Given the description of an element on the screen output the (x, y) to click on. 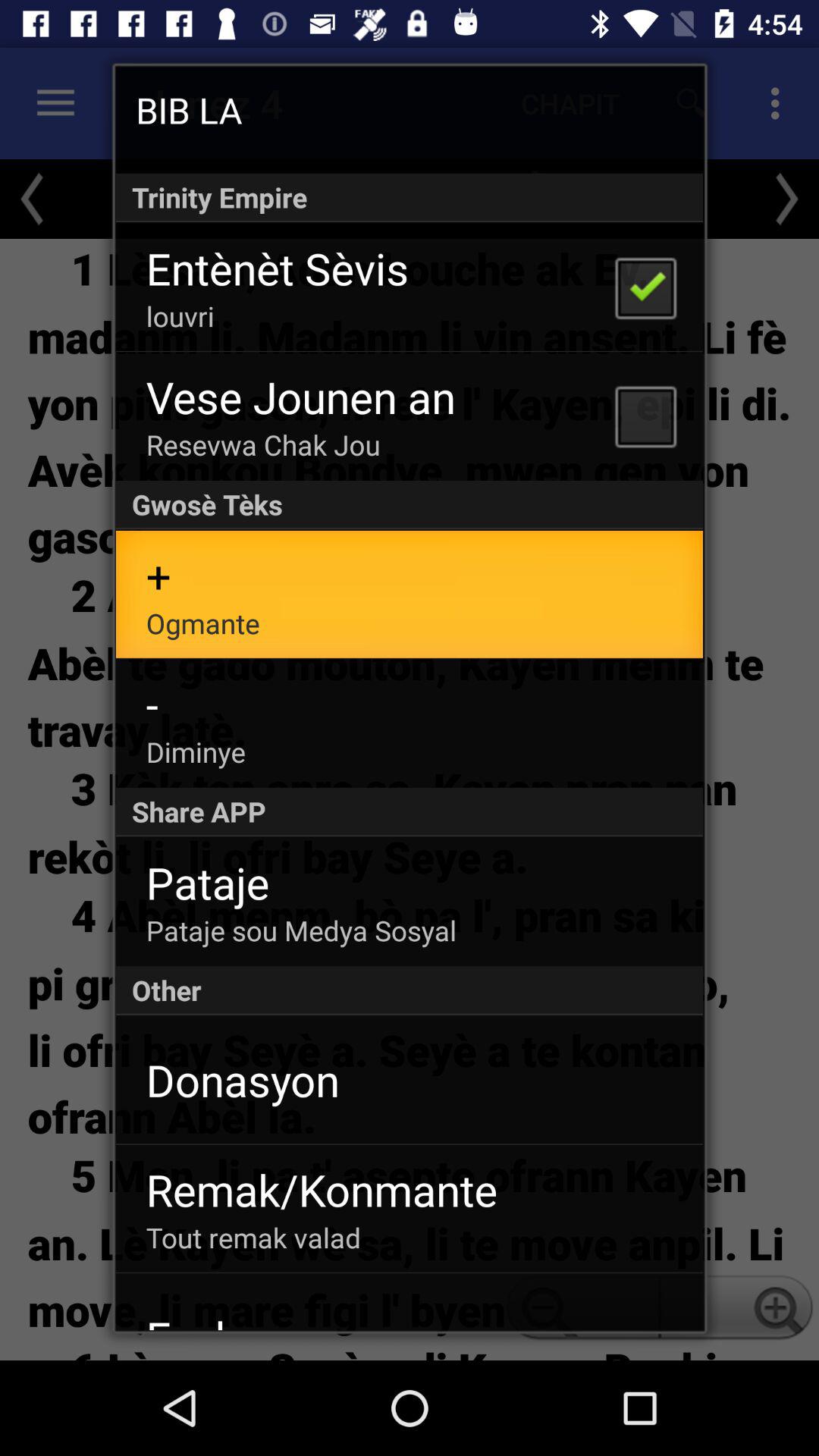
scroll until the donasyon app (242, 1079)
